Given the description of an element on the screen output the (x, y) to click on. 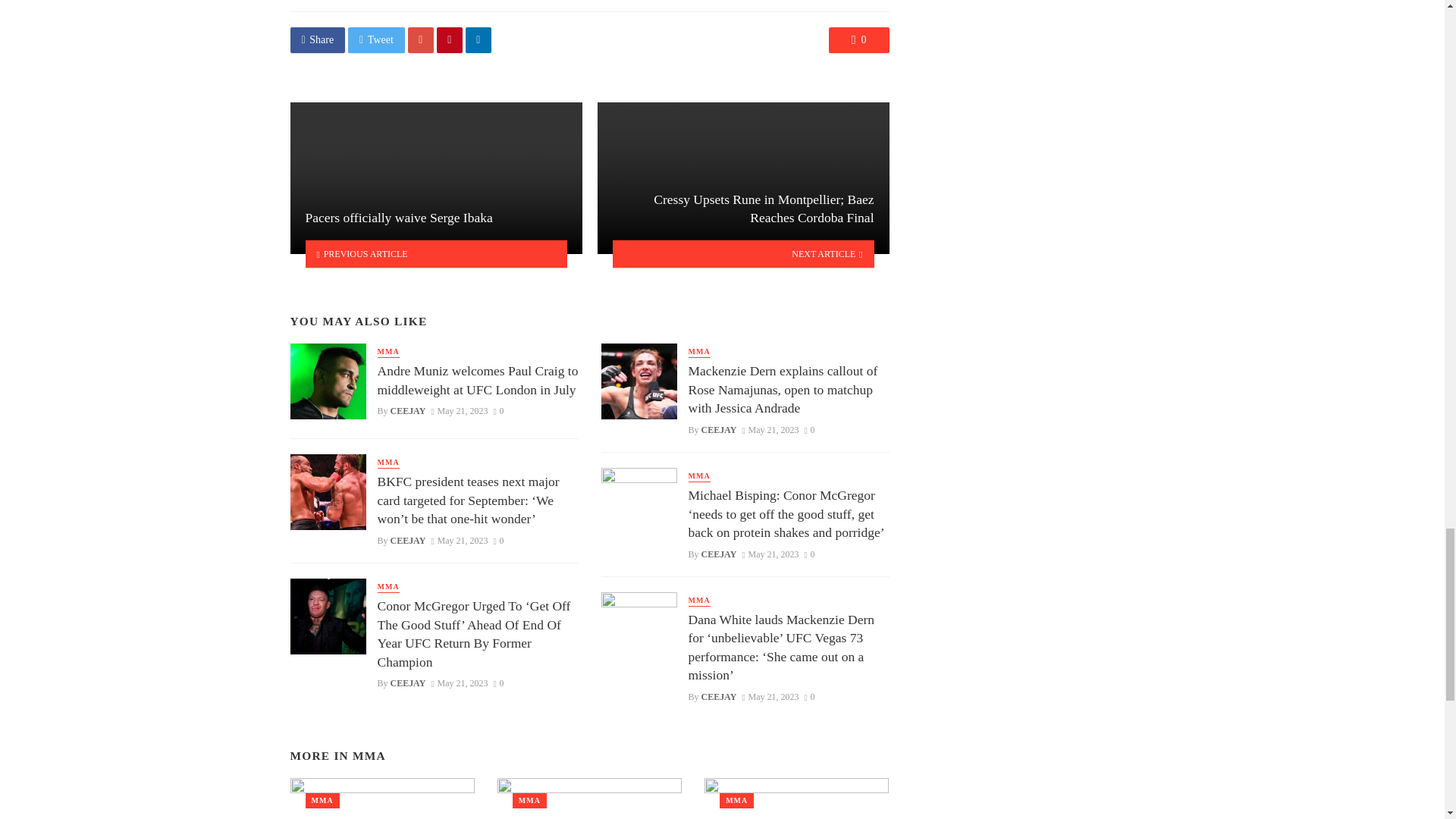
Share on Linkedin (478, 40)
0 Comments (858, 40)
Share on Pinterest (449, 40)
Share on Facebook (317, 40)
Share (317, 40)
Share on Twitter (375, 40)
Tweet (375, 40)
